Given the description of an element on the screen output the (x, y) to click on. 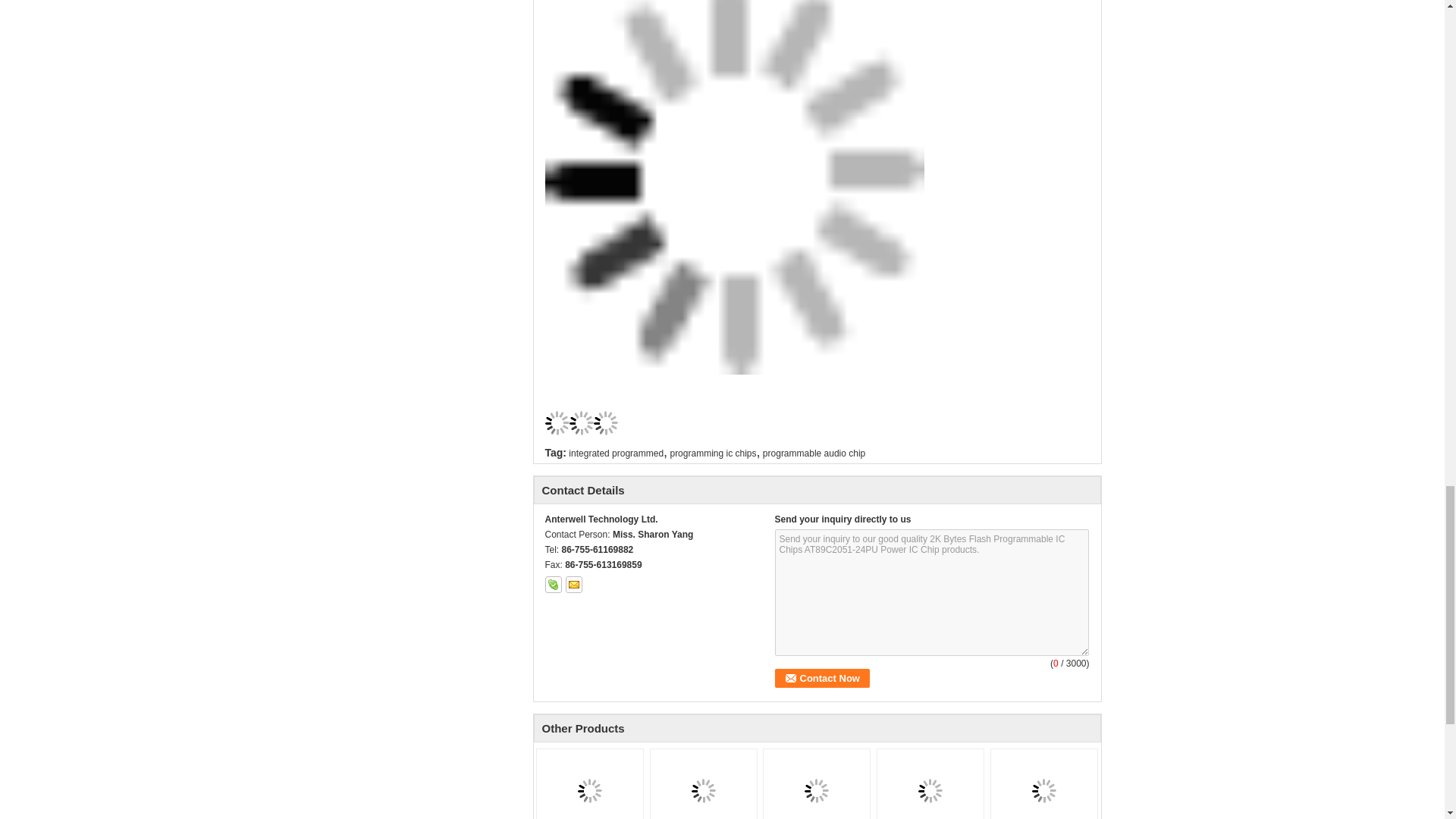
Contact Now (821, 678)
